Given the description of an element on the screen output the (x, y) to click on. 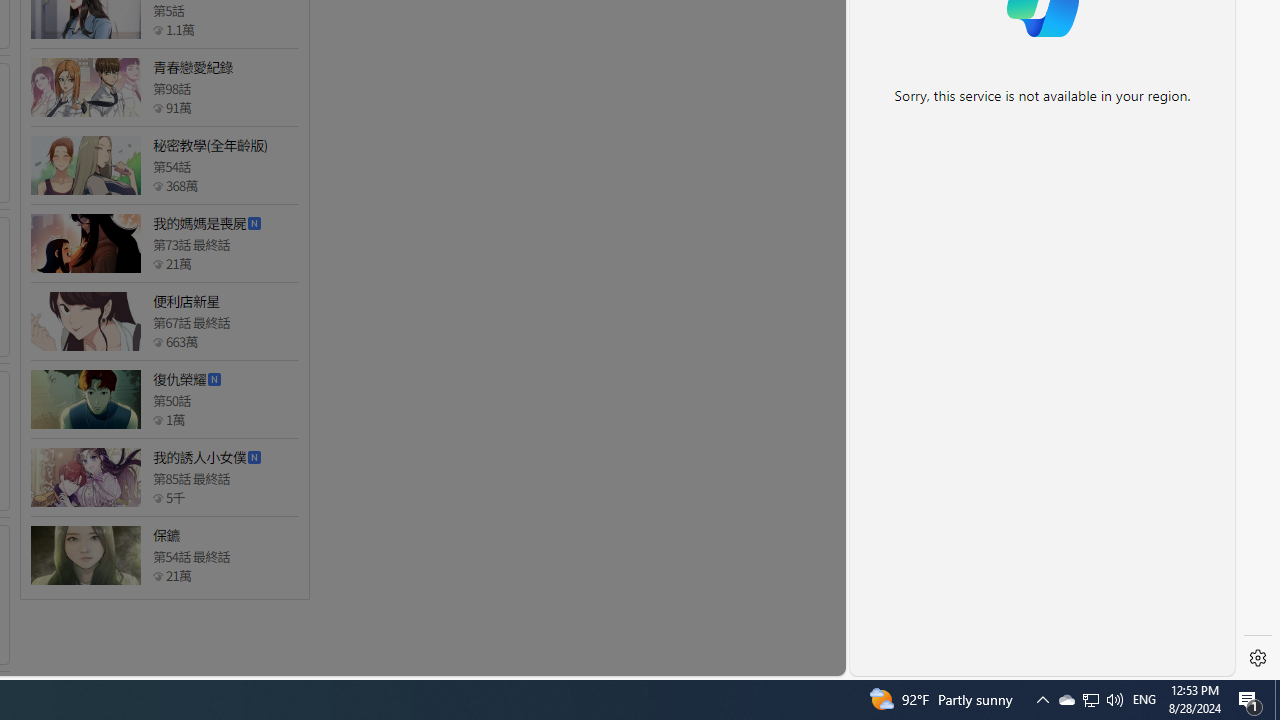
Class: thumb_img (85, 555)
